Given the description of an element on the screen output the (x, y) to click on. 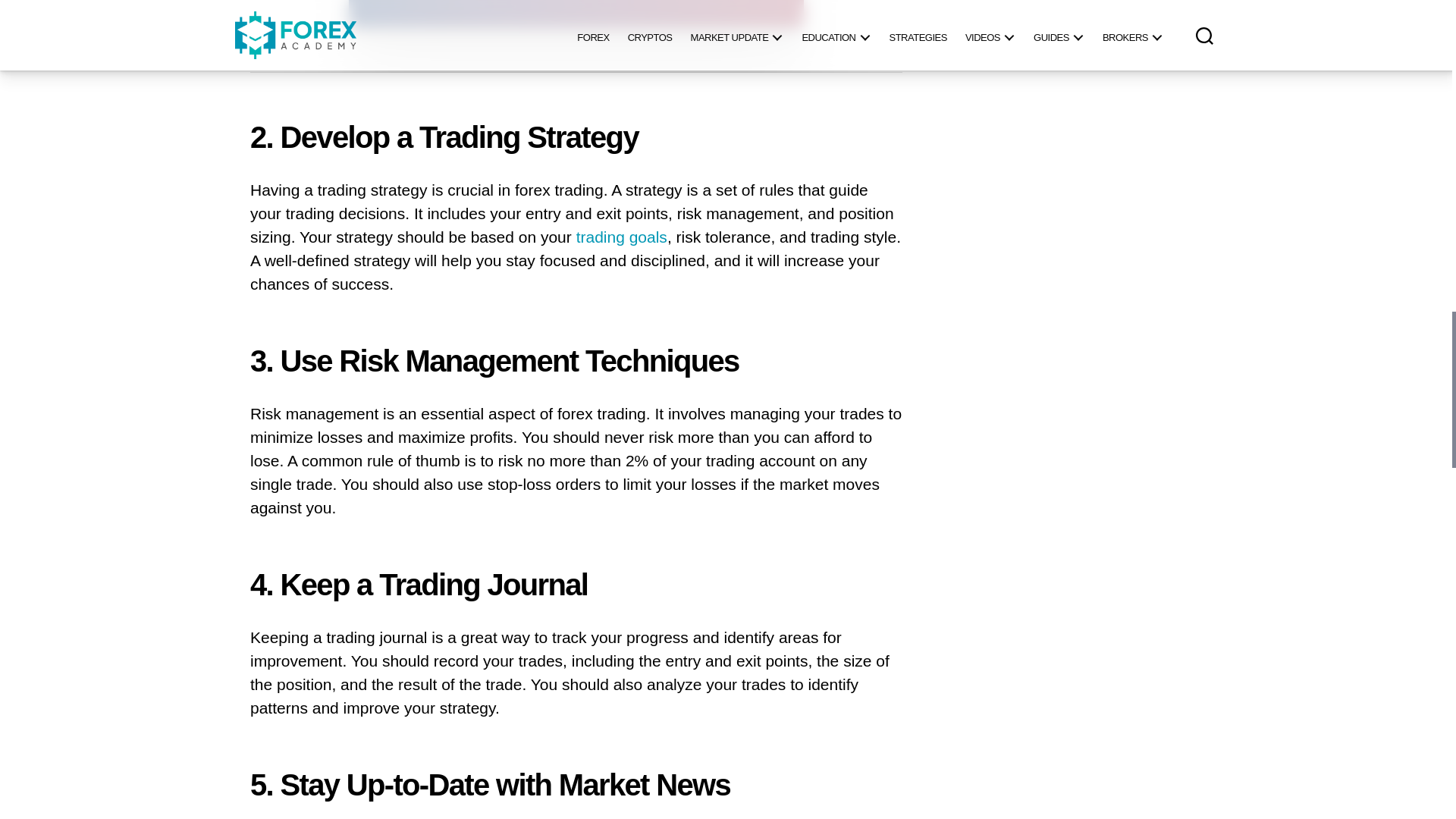
trading goals (621, 237)
